Given the description of an element on the screen output the (x, y) to click on. 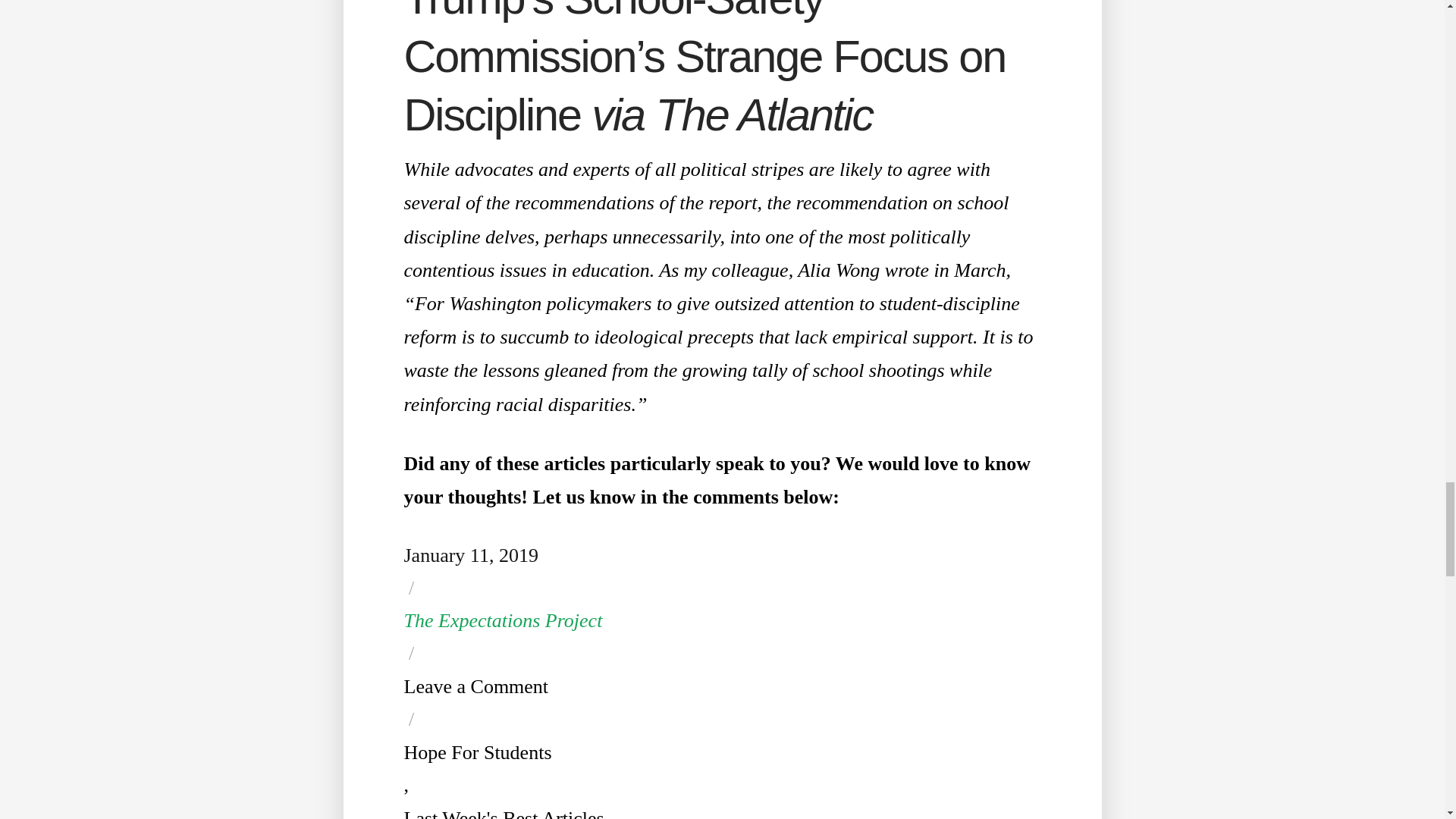
Hope For Students (477, 753)
Leave a Comment (475, 686)
Last Week's Best Articles (503, 811)
